Given the description of an element on the screen output the (x, y) to click on. 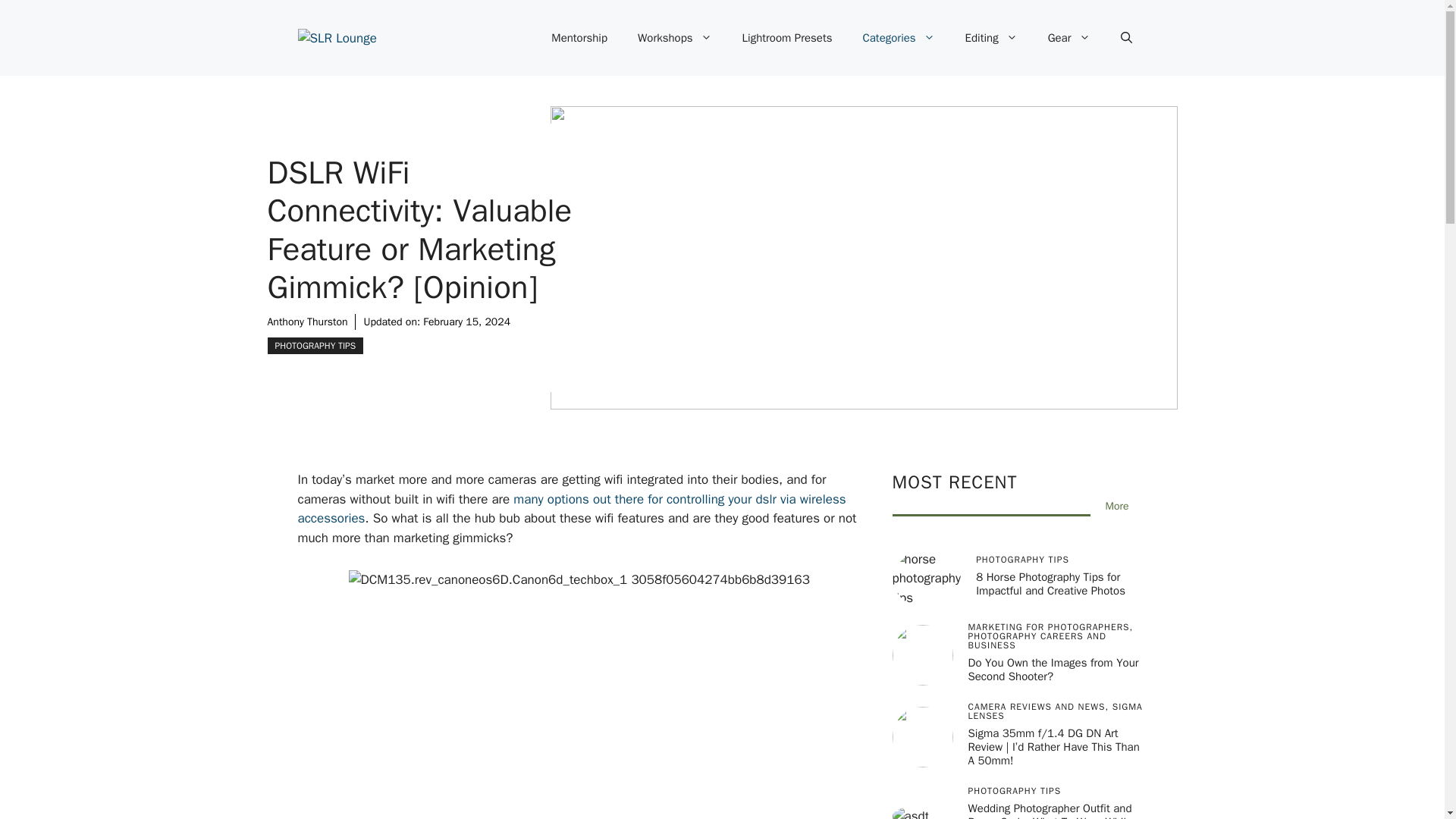
Editing (991, 37)
Anthony Thurston (306, 321)
Categories (898, 37)
Lightroom Presets (786, 37)
Gear (1068, 37)
Mentorship (579, 37)
Workshops (674, 37)
PHOTOGRAPHY TIPS (314, 345)
